Given the description of an element on the screen output the (x, y) to click on. 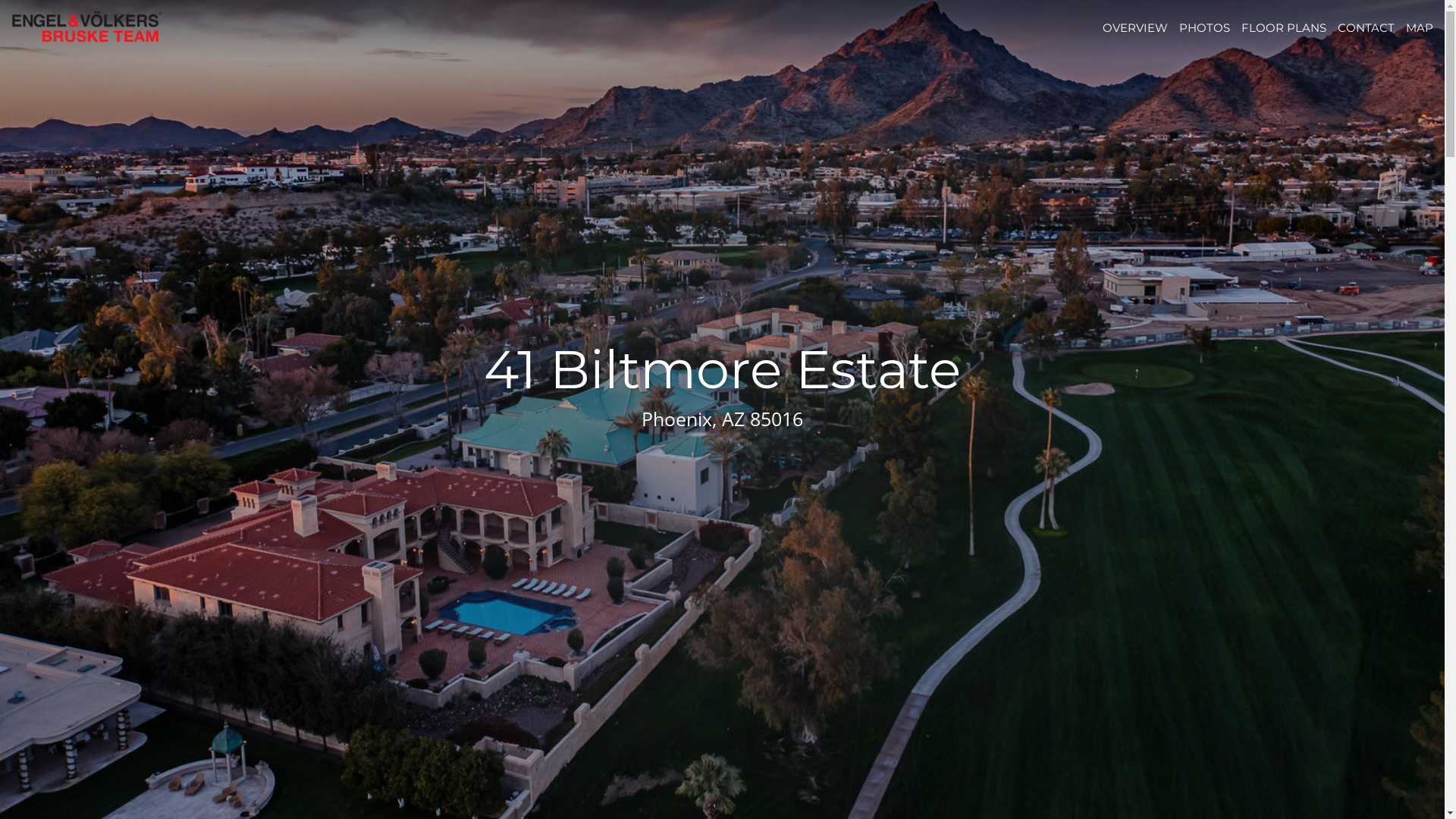
OVERVIEW Element type: text (1134, 27)
PHOTOS Element type: text (1204, 27)
FLOOR PLANS Element type: text (1283, 27)
MAP Element type: text (1419, 27)
CONTACT Element type: text (1365, 27)
